Given the description of an element on the screen output the (x, y) to click on. 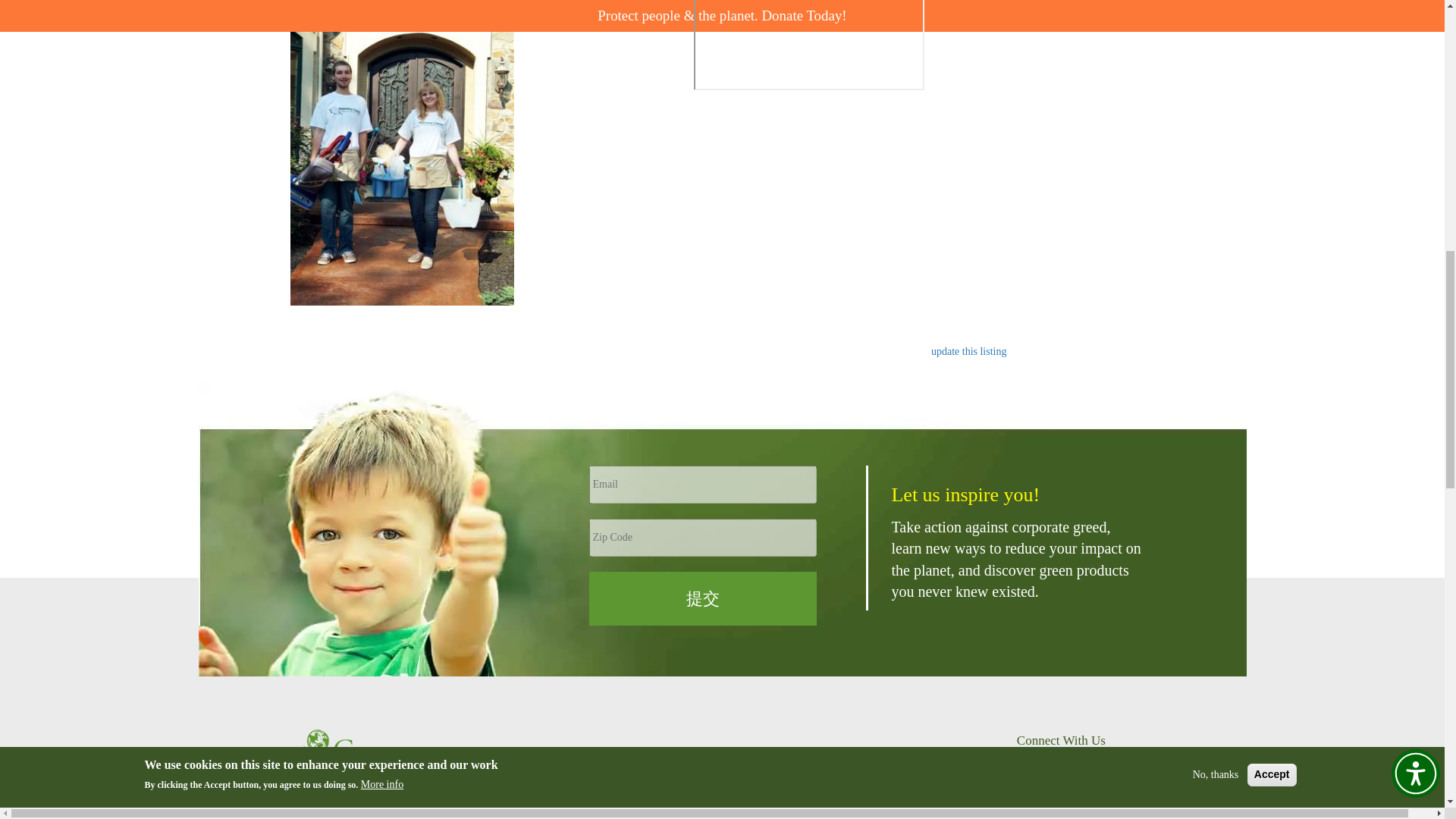
p3x1s8 (808, 45)
